Given the description of an element on the screen output the (x, y) to click on. 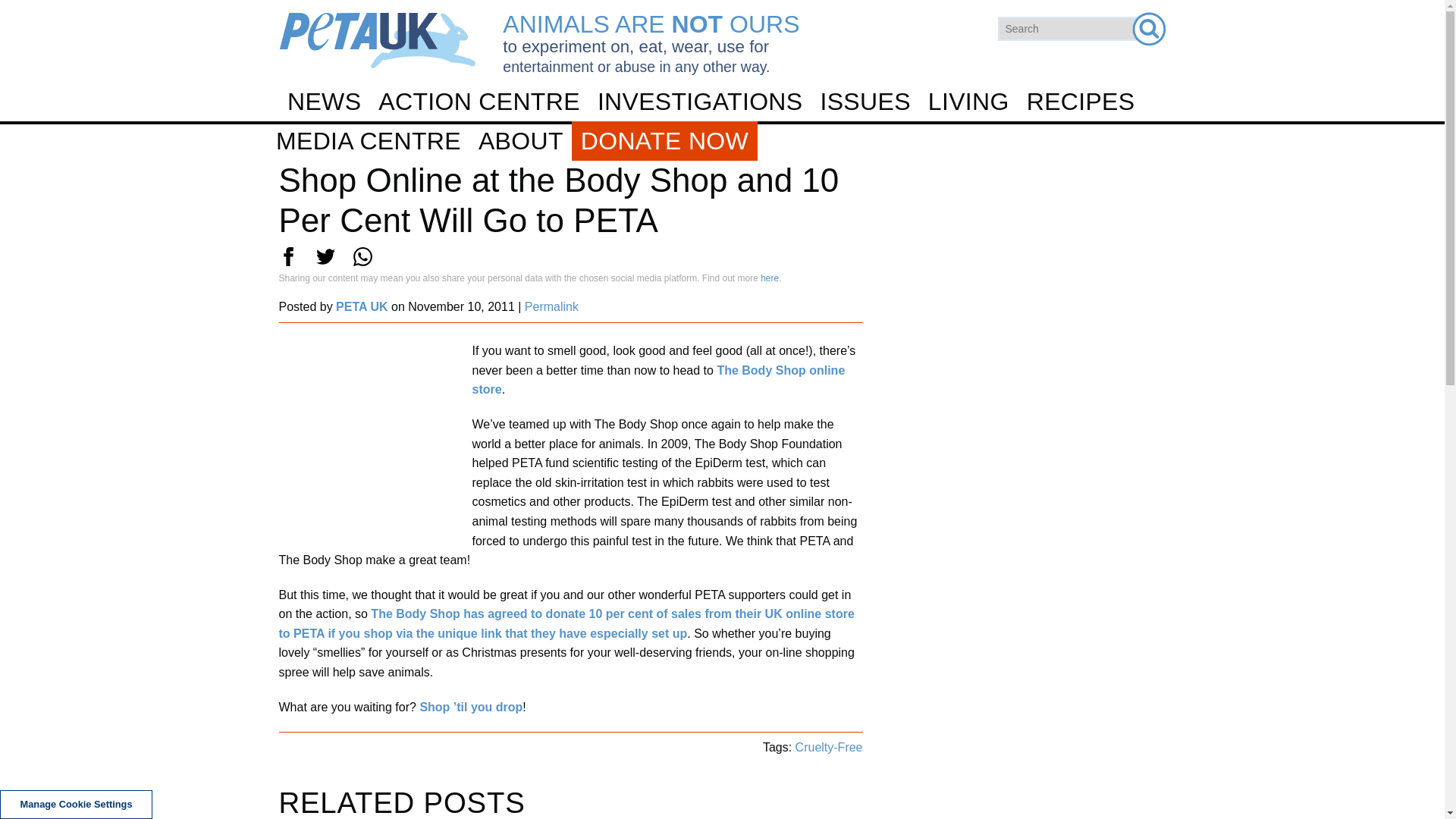
Submit (1148, 28)
NON-ANIMAL METHODS (721, 350)
ISSUES (864, 101)
COSMETICS TESTING (721, 231)
WEAR (721, 265)
ANIMALS IN EDUCATION AND TRAINING (721, 310)
Submit (1148, 28)
Posts by PETA UK (361, 306)
ACTIVIST RESOURCES (721, 225)
CHEMICAL TESTING (728, 192)
USE FOR ENTERTAINMENT (721, 304)
MEDICAL EXPERIMENTS (721, 271)
PETA UK (378, 40)
NEWS (324, 101)
ACTION CENTRE (479, 101)
